Given the description of an element on the screen output the (x, y) to click on. 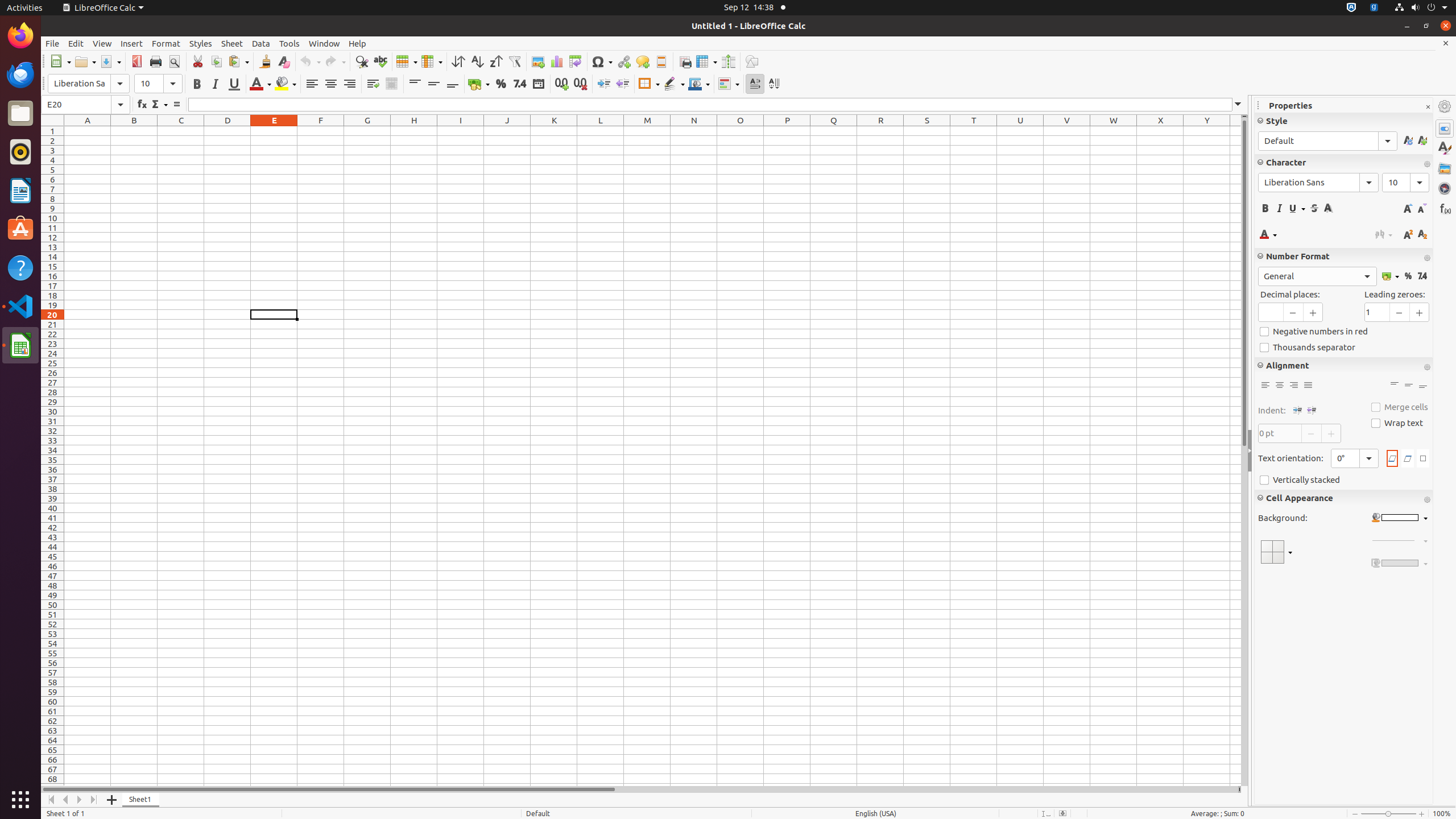
S1 Element type: table-cell (926, 130)
Horizontal scroll bar Element type: scroll-bar (639, 789)
Vertical scroll bar Element type: scroll-bar (1244, 451)
Spelling Element type: push-button (379, 61)
Functions Element type: radio-button (1444, 208)
